Given the description of an element on the screen output the (x, y) to click on. 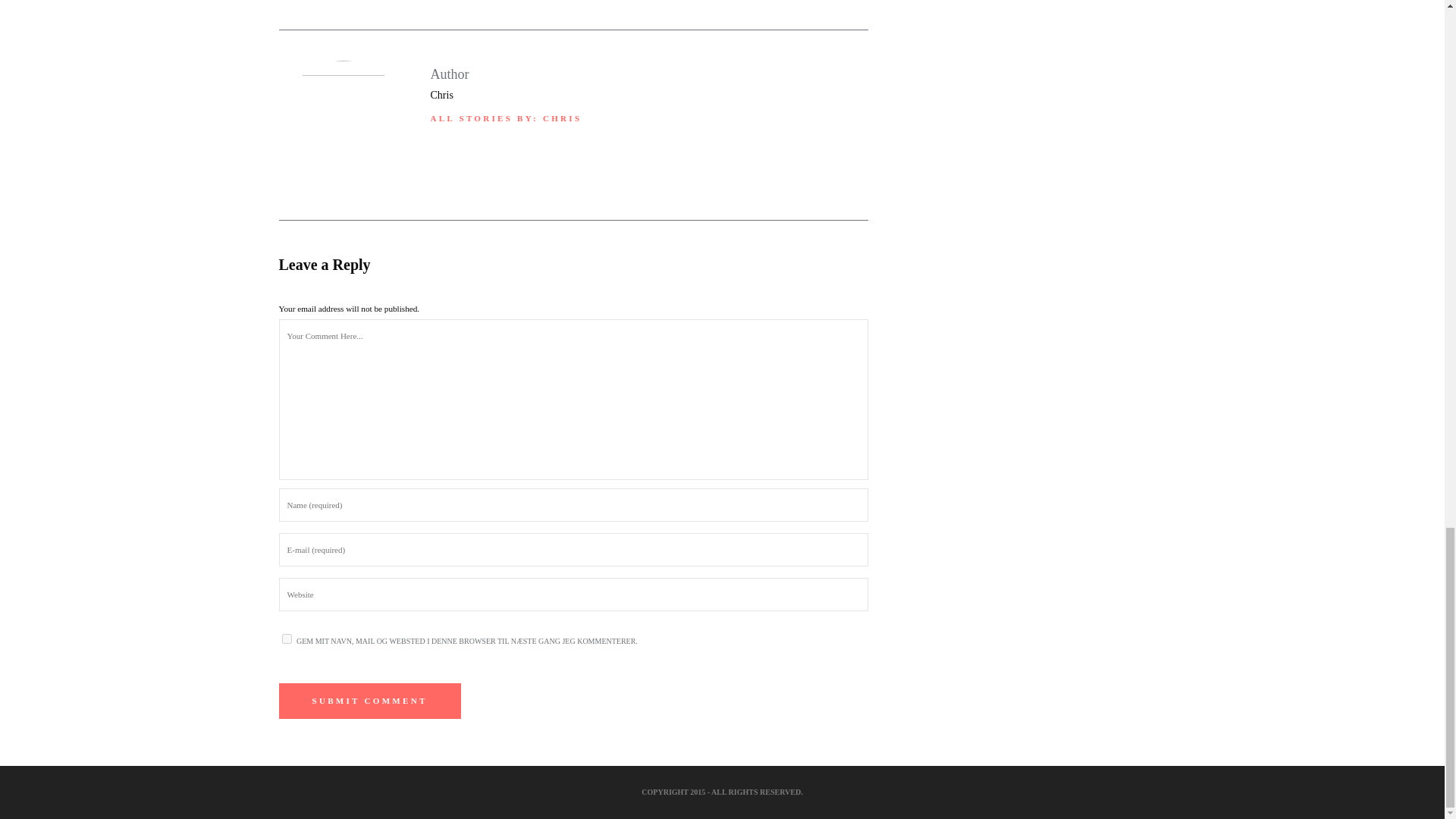
ALL STORIES BY: CHRIS (506, 117)
Submit Comment (370, 700)
Submit Comment (370, 700)
yes (287, 638)
